Given the description of an element on the screen output the (x, y) to click on. 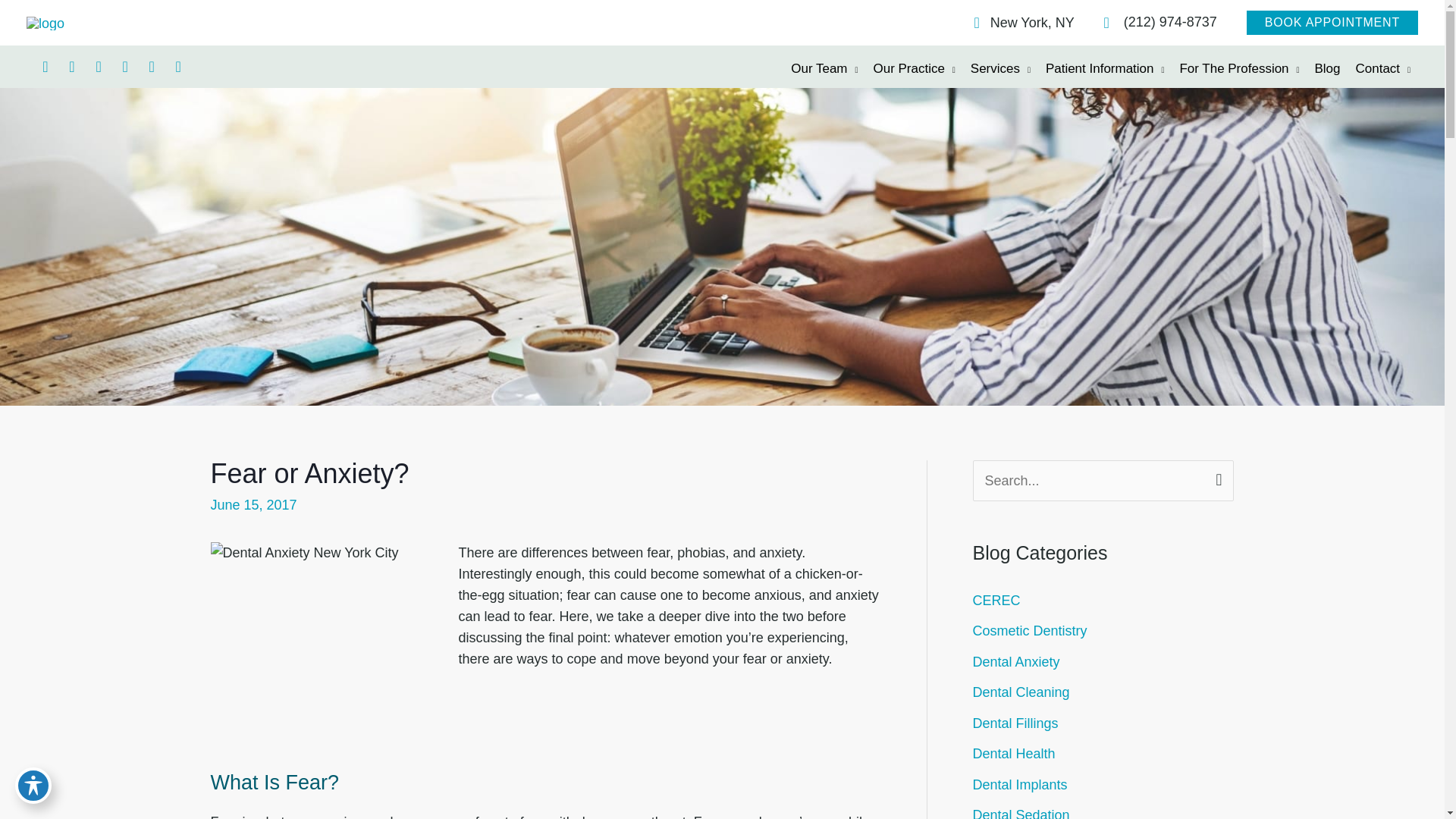
New York, NY (1016, 22)
Our Practice (913, 68)
Our Team (823, 68)
Services (1000, 68)
BOOK APPOINTMENT (1332, 22)
